Given the description of an element on the screen output the (x, y) to click on. 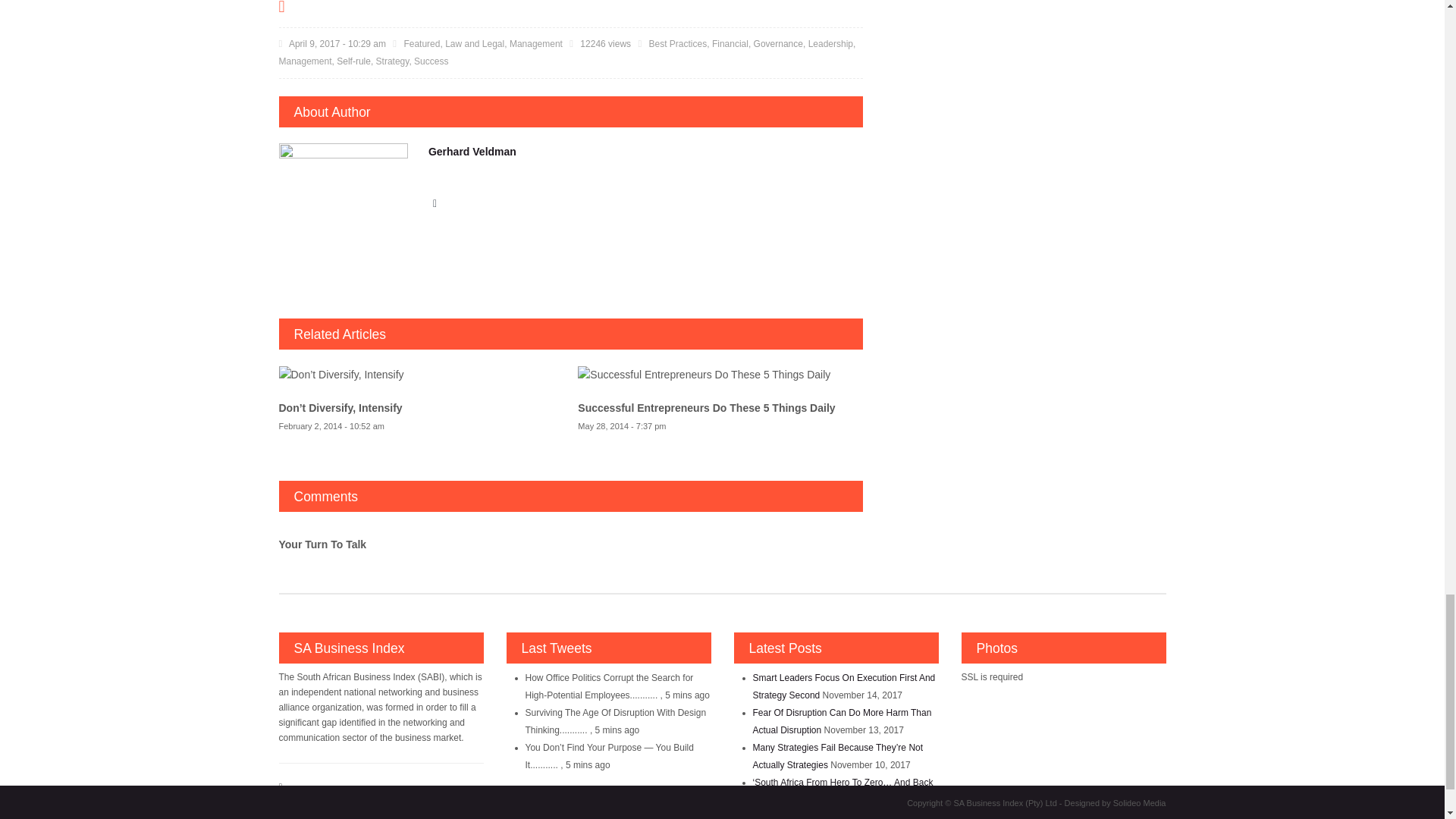
View all posts in Featured (421, 43)
View all posts in Management (535, 43)
View all posts in Law and Legal (474, 43)
Posts by Gerhard Veldman (472, 151)
Management (535, 43)
Smart Leaders Focus On Execution First And Strategy Second (843, 686)
Featured (421, 43)
Law and Legal (474, 43)
Fear Of Disruption Can Do More Harm Than Actual Disruption (841, 721)
